Given the description of an element on the screen output the (x, y) to click on. 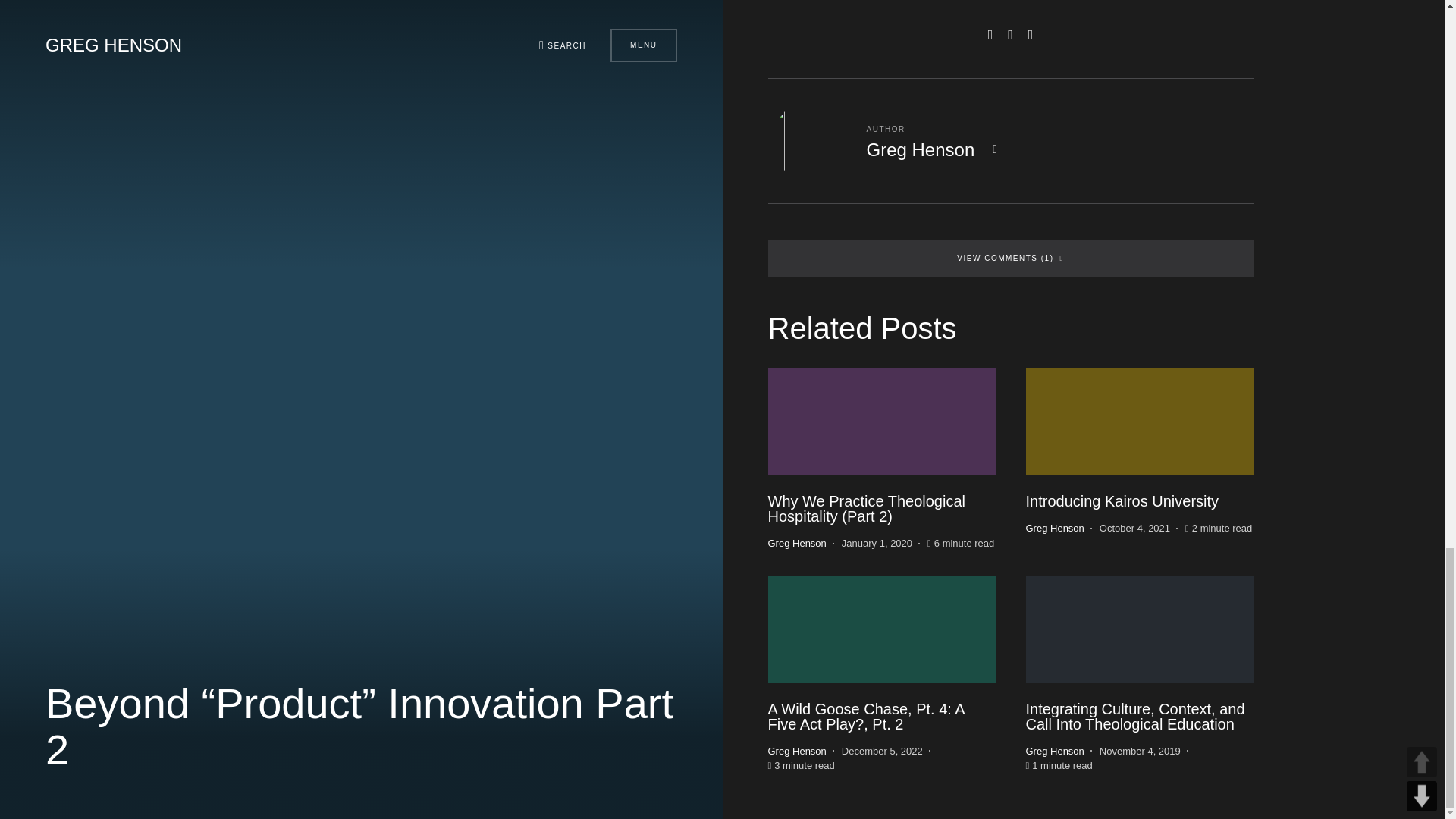
View all posts by Greg Henson (796, 543)
View all posts by Greg Henson (1054, 528)
View all posts by Greg Henson (796, 751)
Greg Henson (796, 543)
View all posts by Greg Henson (1054, 751)
Greg Henson (920, 148)
